Given the description of an element on the screen output the (x, y) to click on. 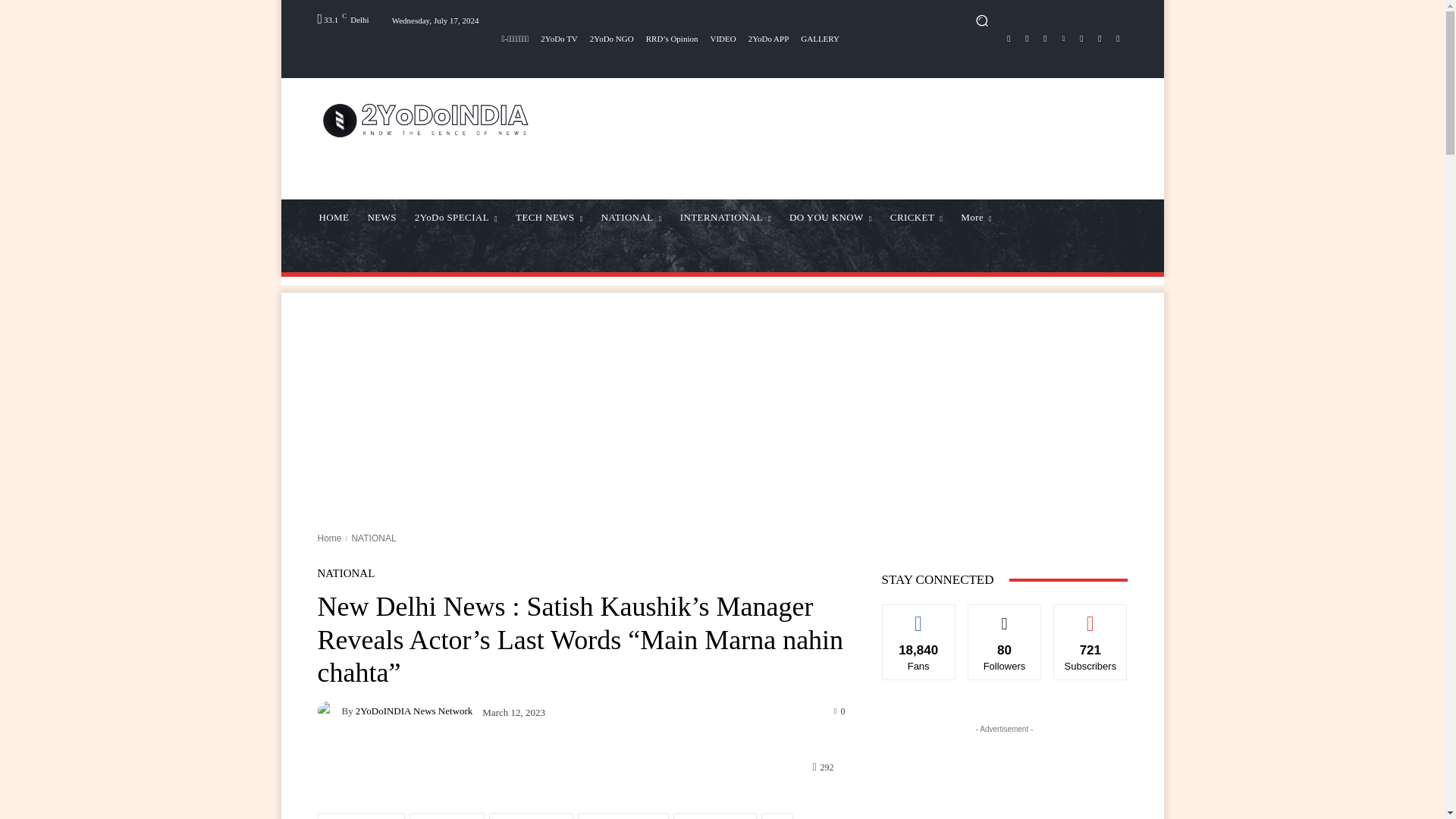
Facebook (1007, 38)
